Given the description of an element on the screen output the (x, y) to click on. 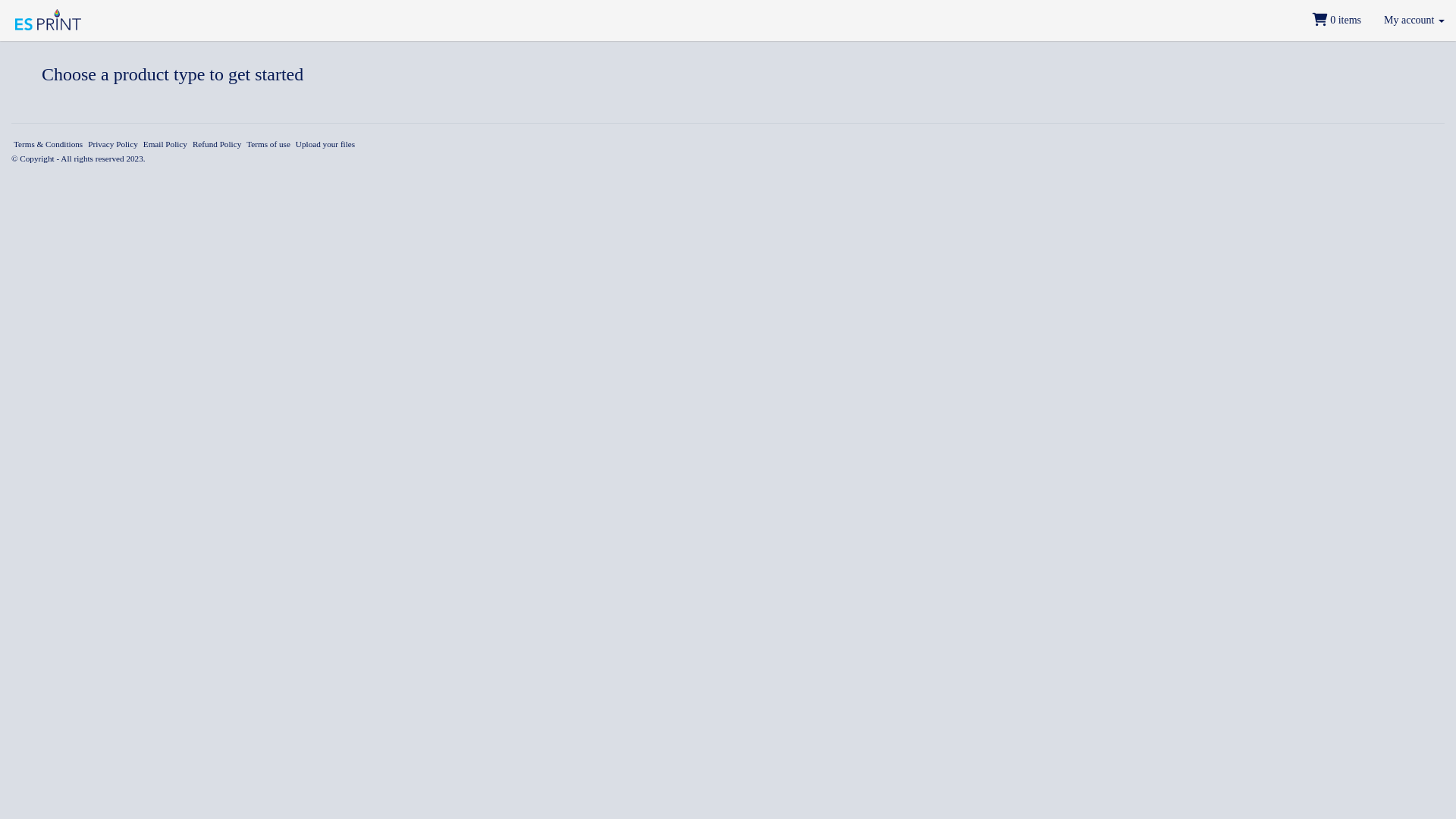
Privacy Policy Element type: text (112, 143)
Terms of use Element type: text (268, 143)
 0 items Element type: text (1336, 20)
Refund Policy Element type: text (216, 143)
Email Policy Element type: text (165, 143)
Upload your files Element type: text (324, 143)
Terms & Conditions Element type: text (47, 143)
